Given the description of an element on the screen output the (x, y) to click on. 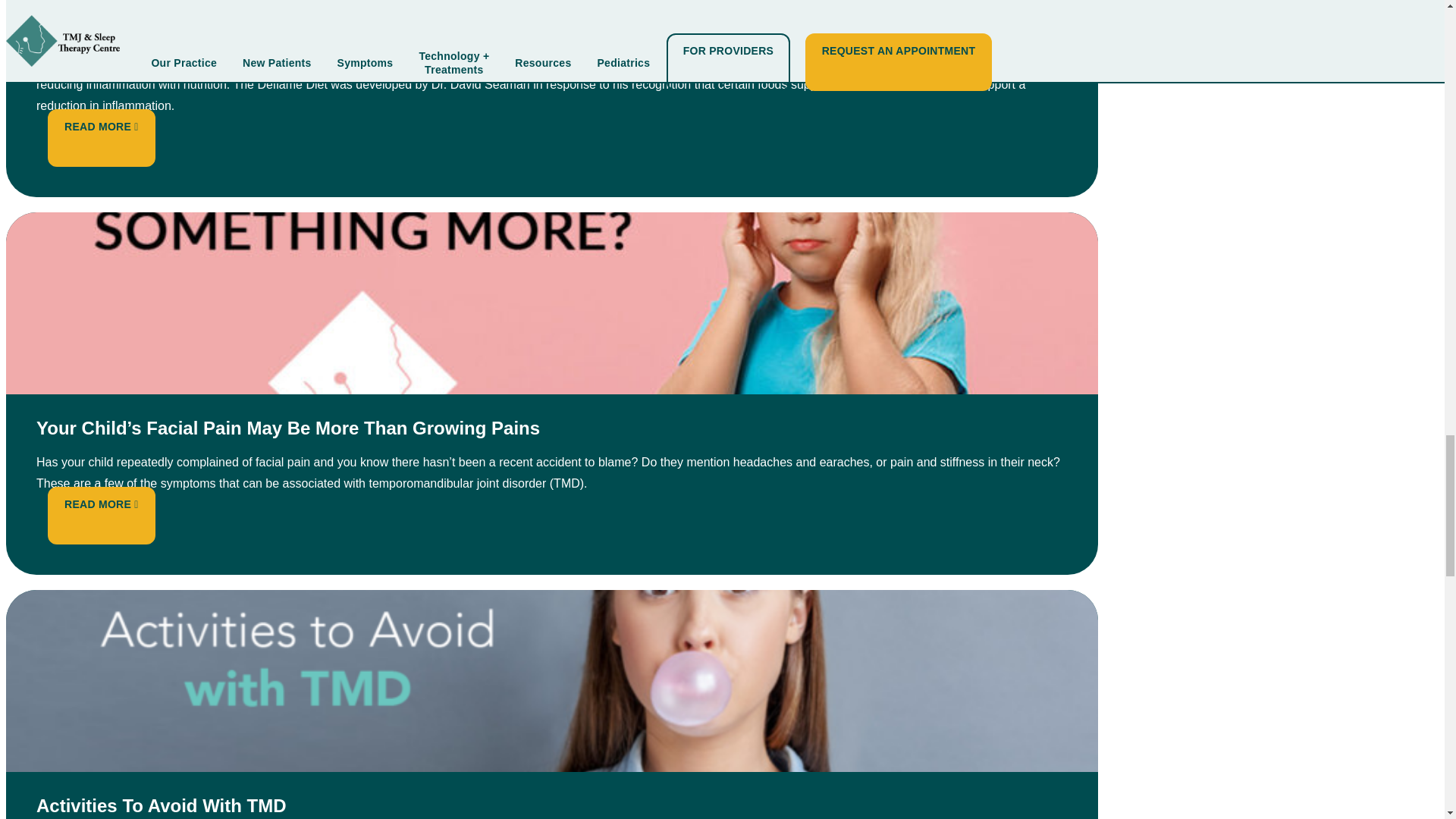
READ MORE (101, 503)
READ MORE (101, 126)
